Given the description of an element on the screen output the (x, y) to click on. 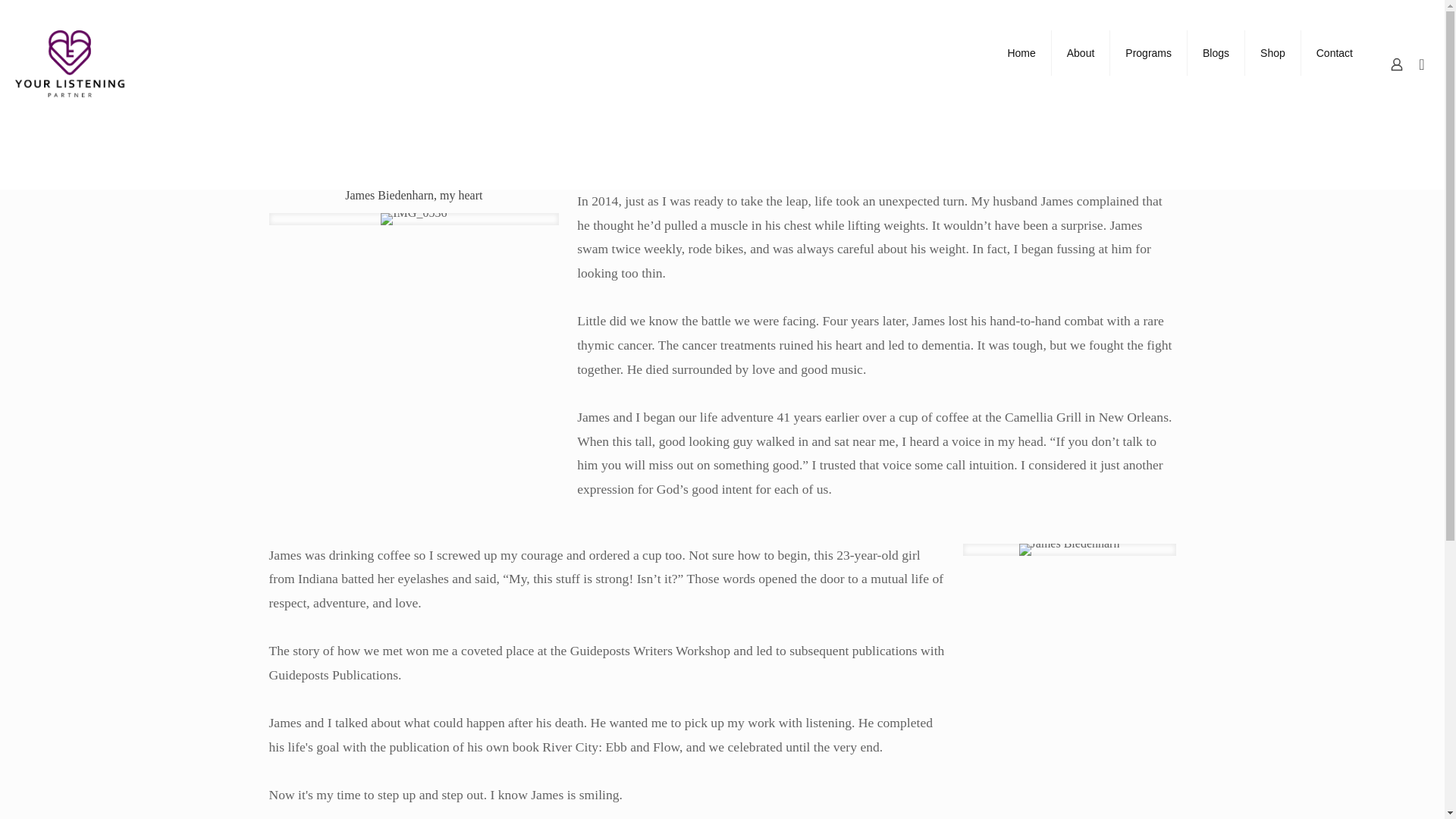
Programs (1148, 52)
Contact (1334, 52)
yourlisteningpartner (70, 63)
